Given the description of an element on the screen output the (x, y) to click on. 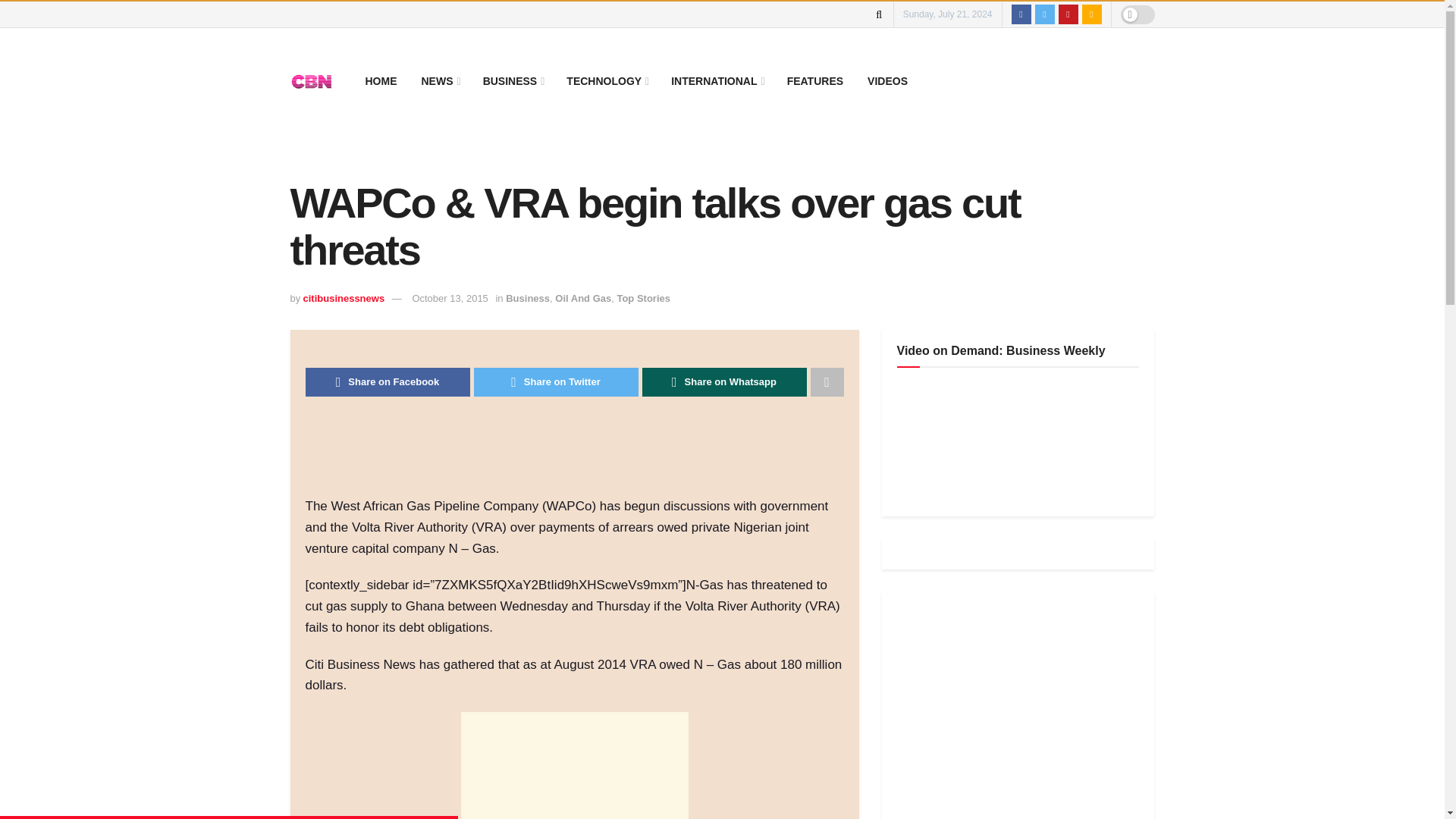
Advertisement (574, 765)
NEWS (439, 80)
Business Weekly (1010, 439)
Advertisement (580, 457)
HOME (381, 80)
Advertisement (1010, 713)
